Given the description of an element on the screen output the (x, y) to click on. 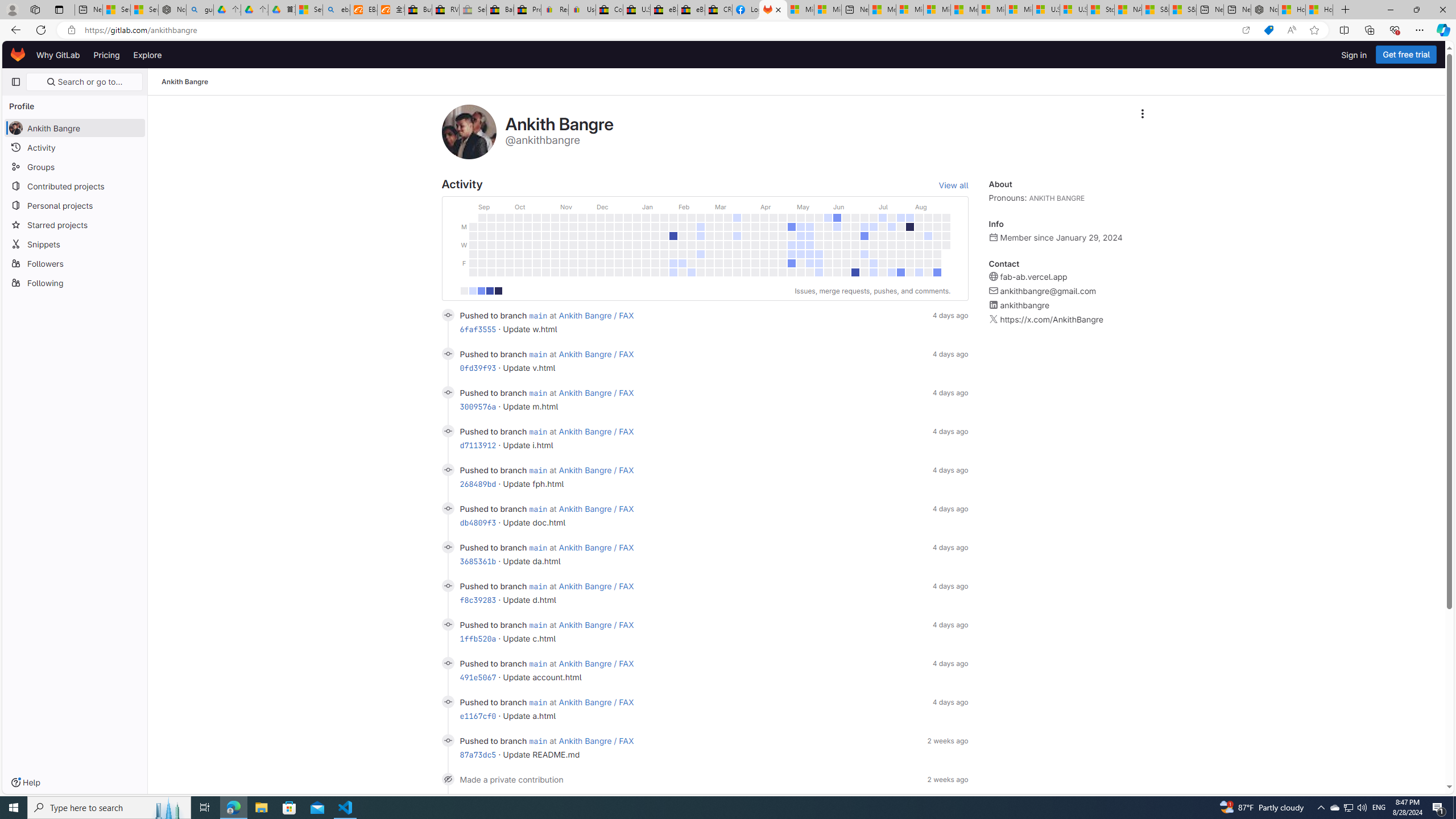
Followers (74, 262)
